Given the description of an element on the screen output the (x, y) to click on. 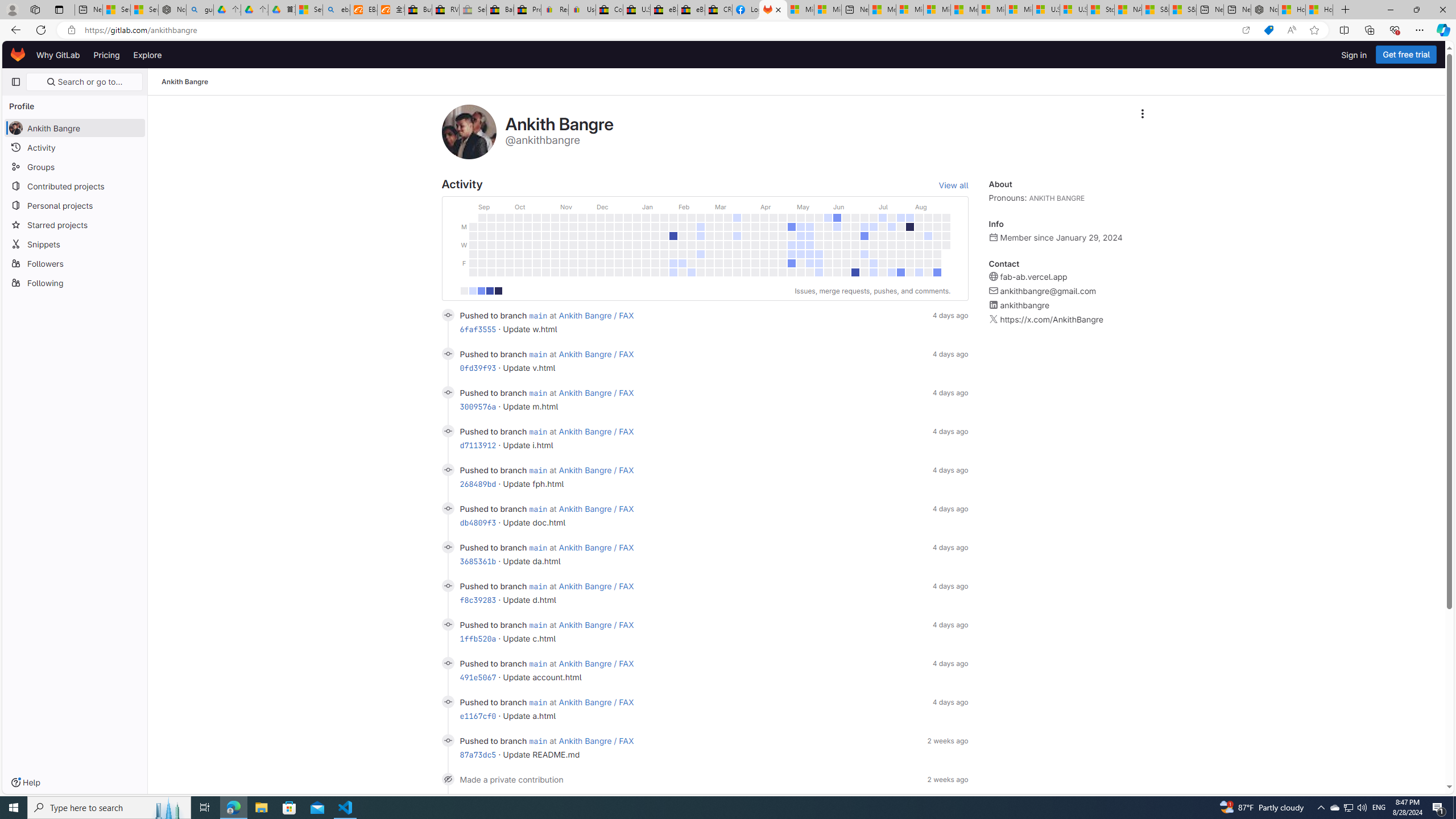
Followers (74, 262)
